Given the description of an element on the screen output the (x, y) to click on. 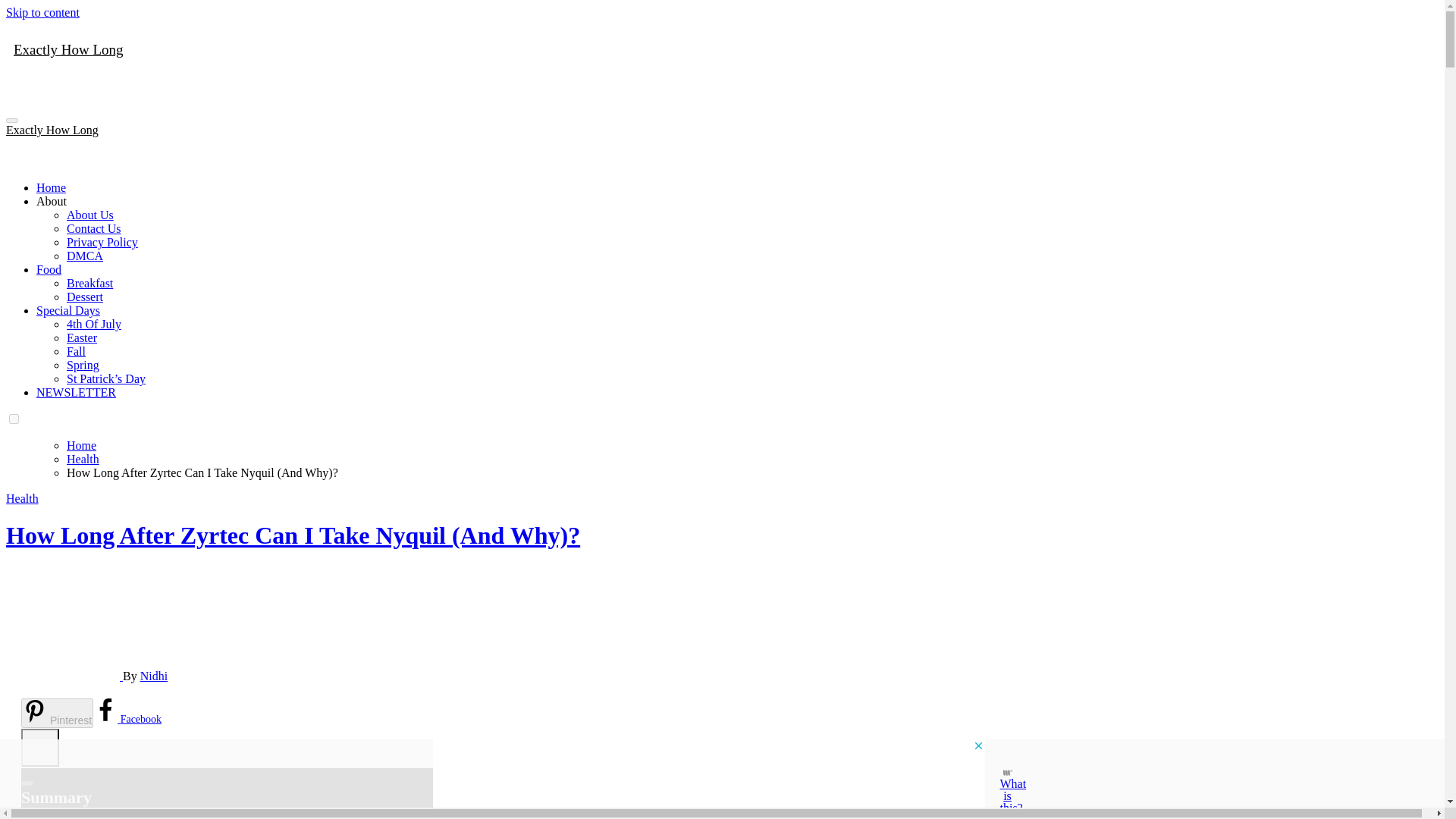
Health (22, 498)
Spring (82, 364)
Easter (81, 337)
on (13, 419)
Easter (81, 337)
Dessert (84, 296)
Spring (82, 364)
Food (48, 269)
Home (50, 187)
Privacy Policy (102, 241)
Special Days (68, 309)
DMCA (84, 255)
Special Days (68, 309)
4th Of July (93, 323)
Contact Us (93, 228)
